Given the description of an element on the screen output the (x, y) to click on. 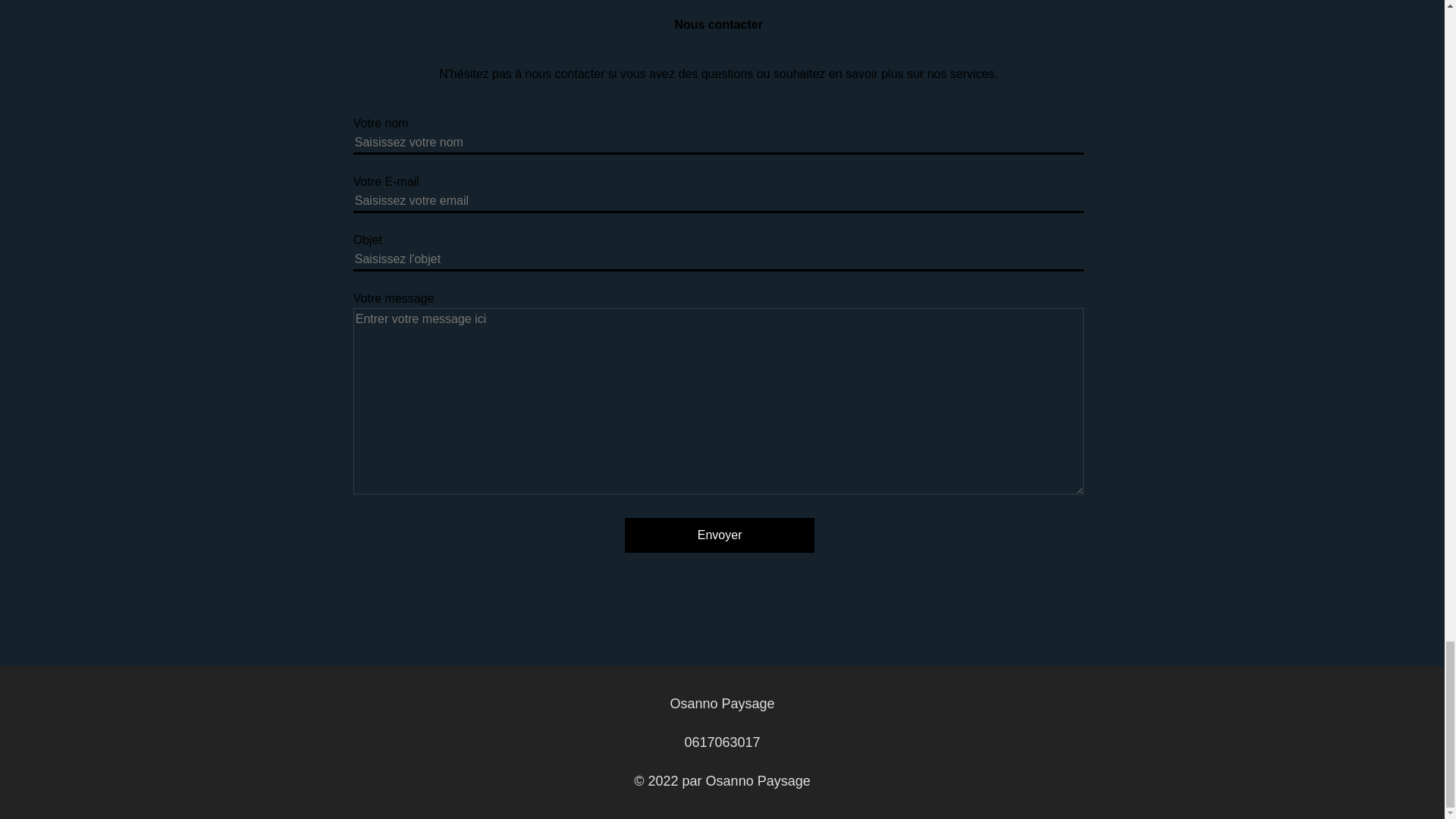
Envoyer (718, 534)
